Given the description of an element on the screen output the (x, y) to click on. 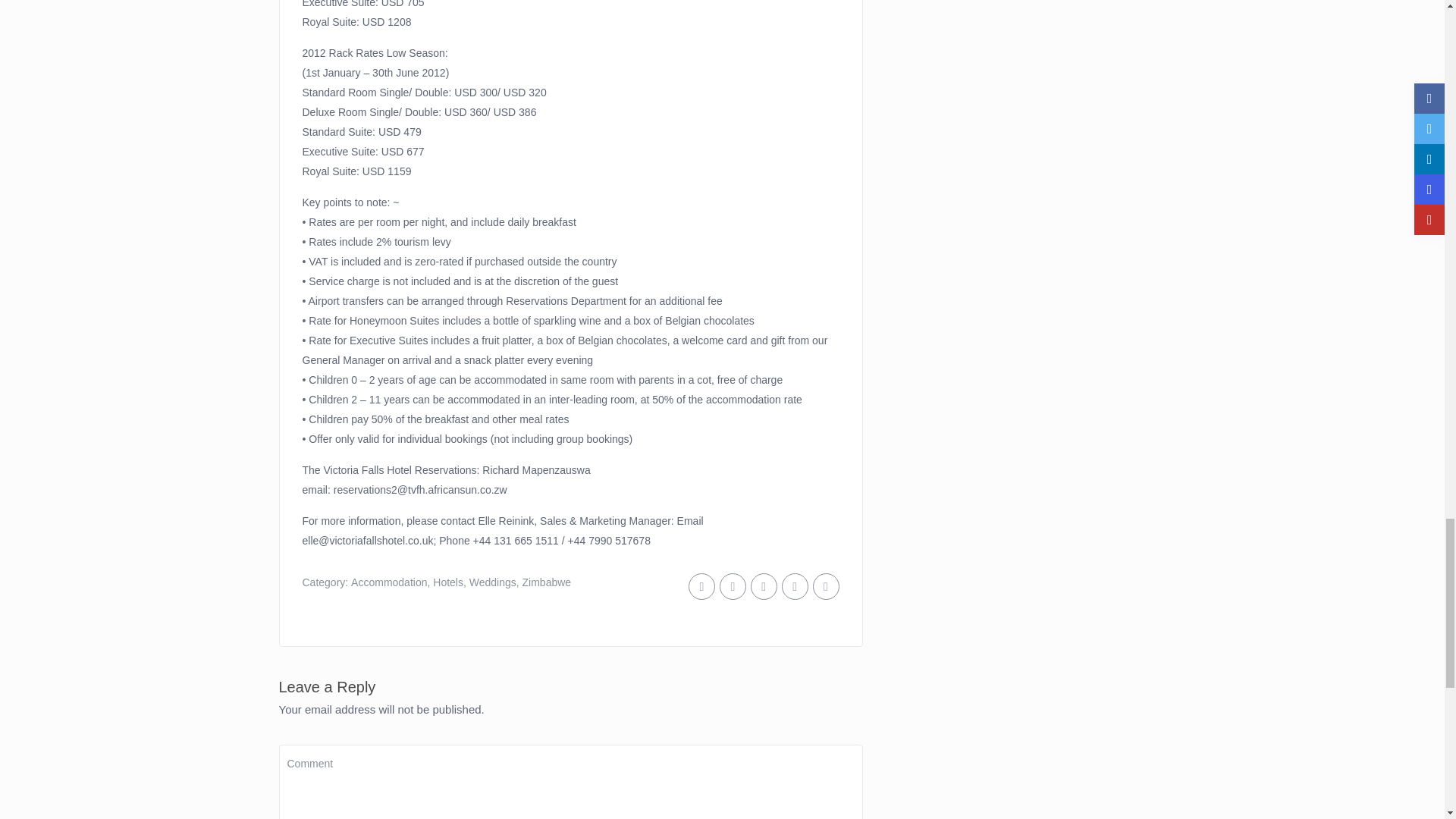
Weddings (492, 582)
Zimbabwe (547, 582)
Hotels (447, 582)
Accommodation (388, 582)
